Given the description of an element on the screen output the (x, y) to click on. 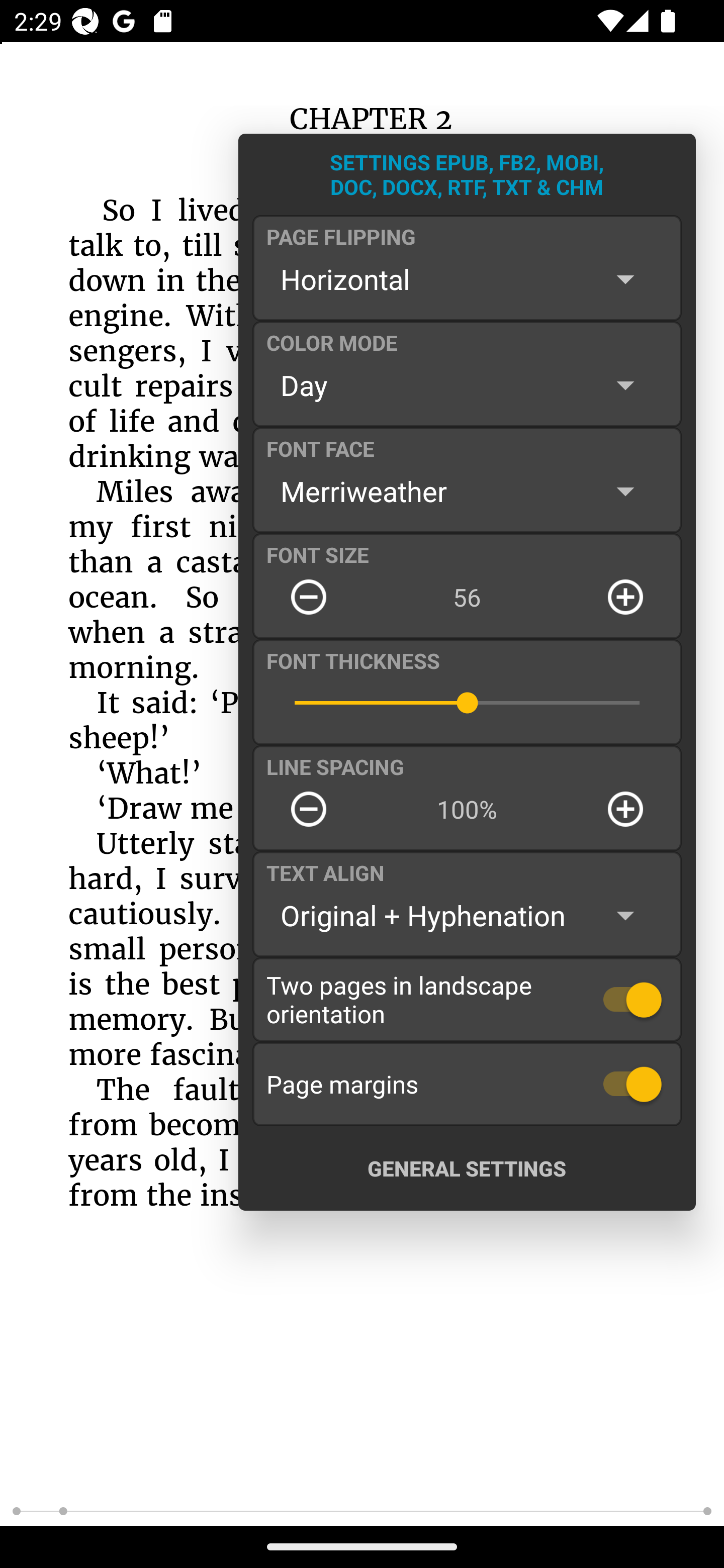
Horizontal (466, 278)
Day (466, 384)
Merriweather (466, 490)
Original + Hyphenation (466, 915)
Two pages in landscape orientation (467, 999)
Page margins (467, 1083)
GENERAL SETTINGS (466, 1167)
